Given the description of an element on the screen output the (x, y) to click on. 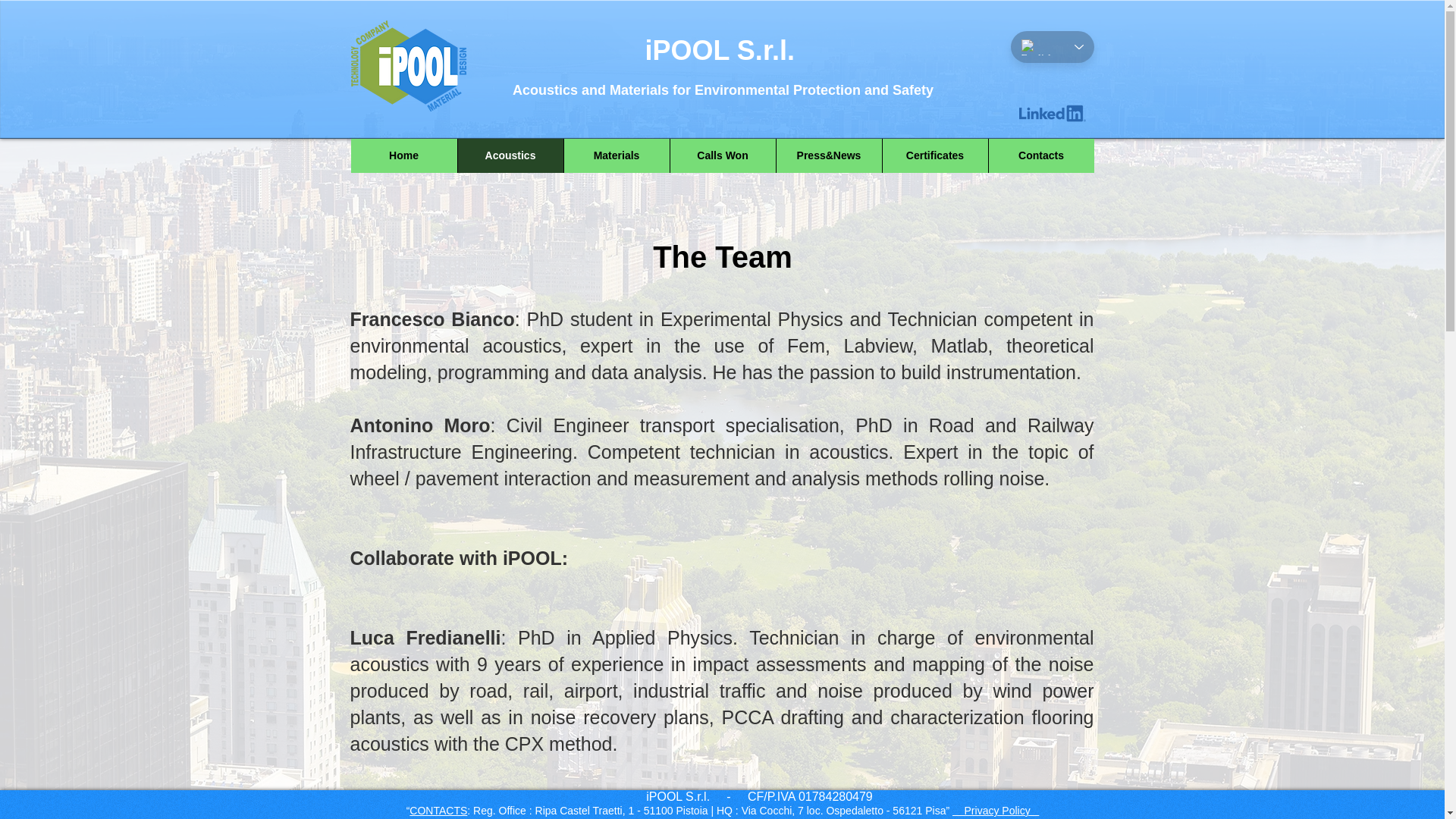
    Privacy Policy    (995, 810)
Certificates (933, 155)
Calls Won (721, 155)
Linkedin-Logo-2048x1280.png (1052, 113)
Home (403, 155)
CONTACTS (438, 810)
Acoustics (509, 155)
Contacts (1040, 155)
Materials (615, 155)
